Given the description of an element on the screen output the (x, y) to click on. 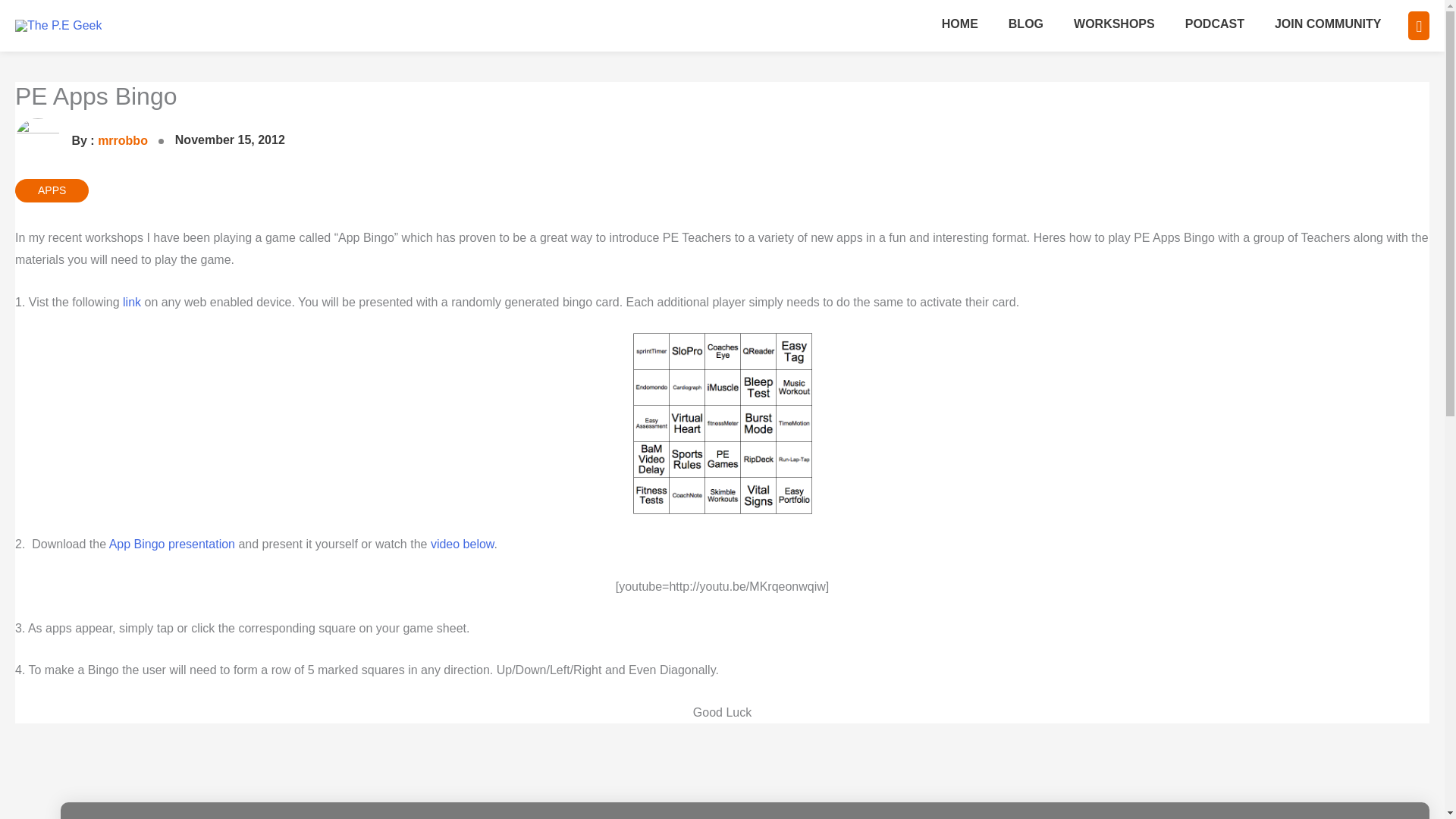
App Bingo presentation (171, 543)
PODCAST (1214, 25)
video below (462, 543)
Screen Shot 2012-11-06 at 9.35.21 PM (720, 423)
HOME (959, 25)
By : mrrobbo (82, 140)
View all posts by mrrobbo (82, 140)
APPS (51, 190)
WORKSHOPS (1114, 25)
JOIN COMMUNITY (1327, 25)
